Given the description of an element on the screen output the (x, y) to click on. 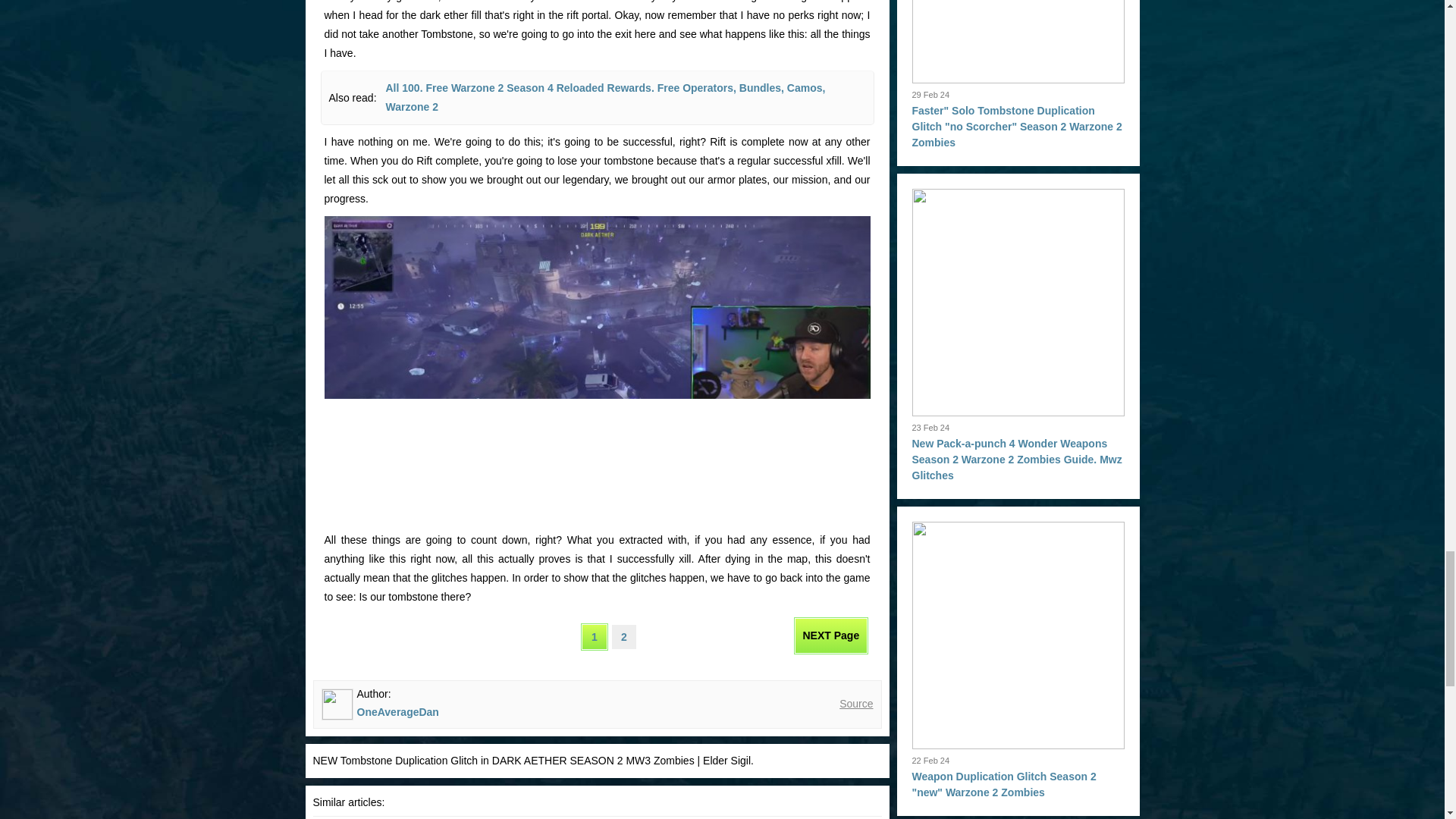
1 (593, 637)
OneAverageDan (397, 711)
2 (623, 636)
NEXT Page (830, 635)
